Given the description of an element on the screen output the (x, y) to click on. 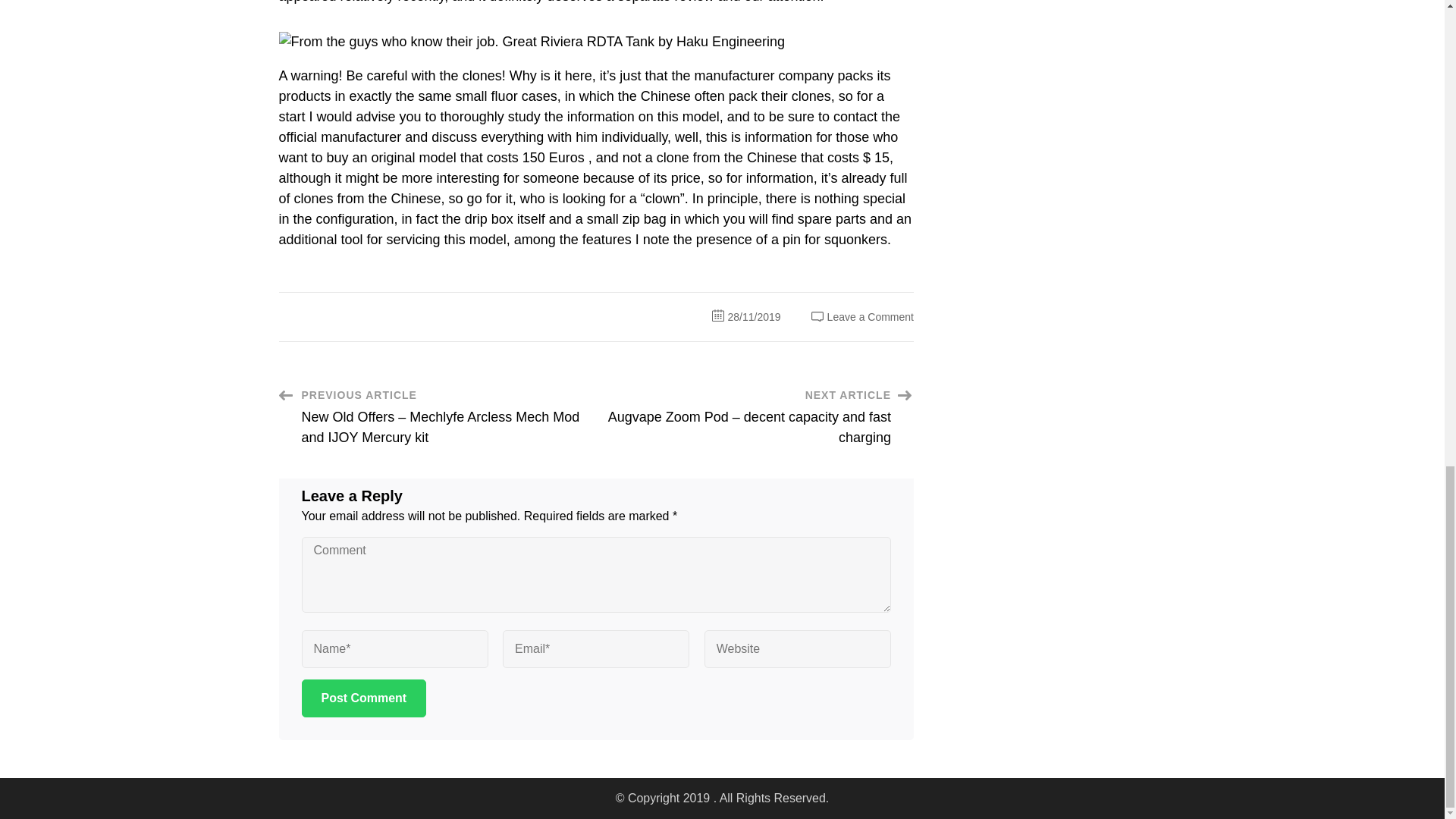
Post Comment (363, 698)
Post Comment (363, 698)
